Given the description of an element on the screen output the (x, y) to click on. 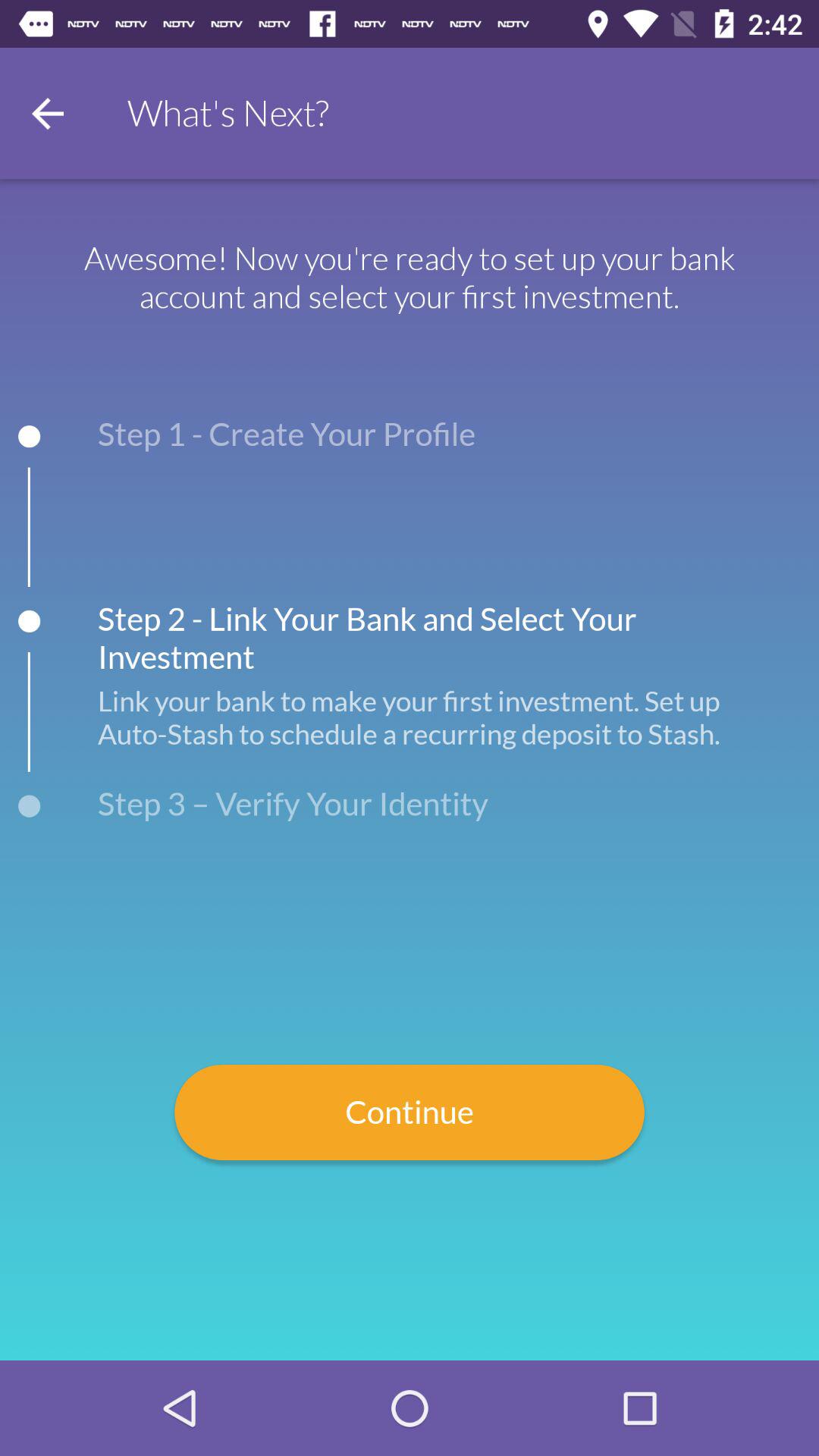
jump to the continue icon (409, 1112)
